Given the description of an element on the screen output the (x, y) to click on. 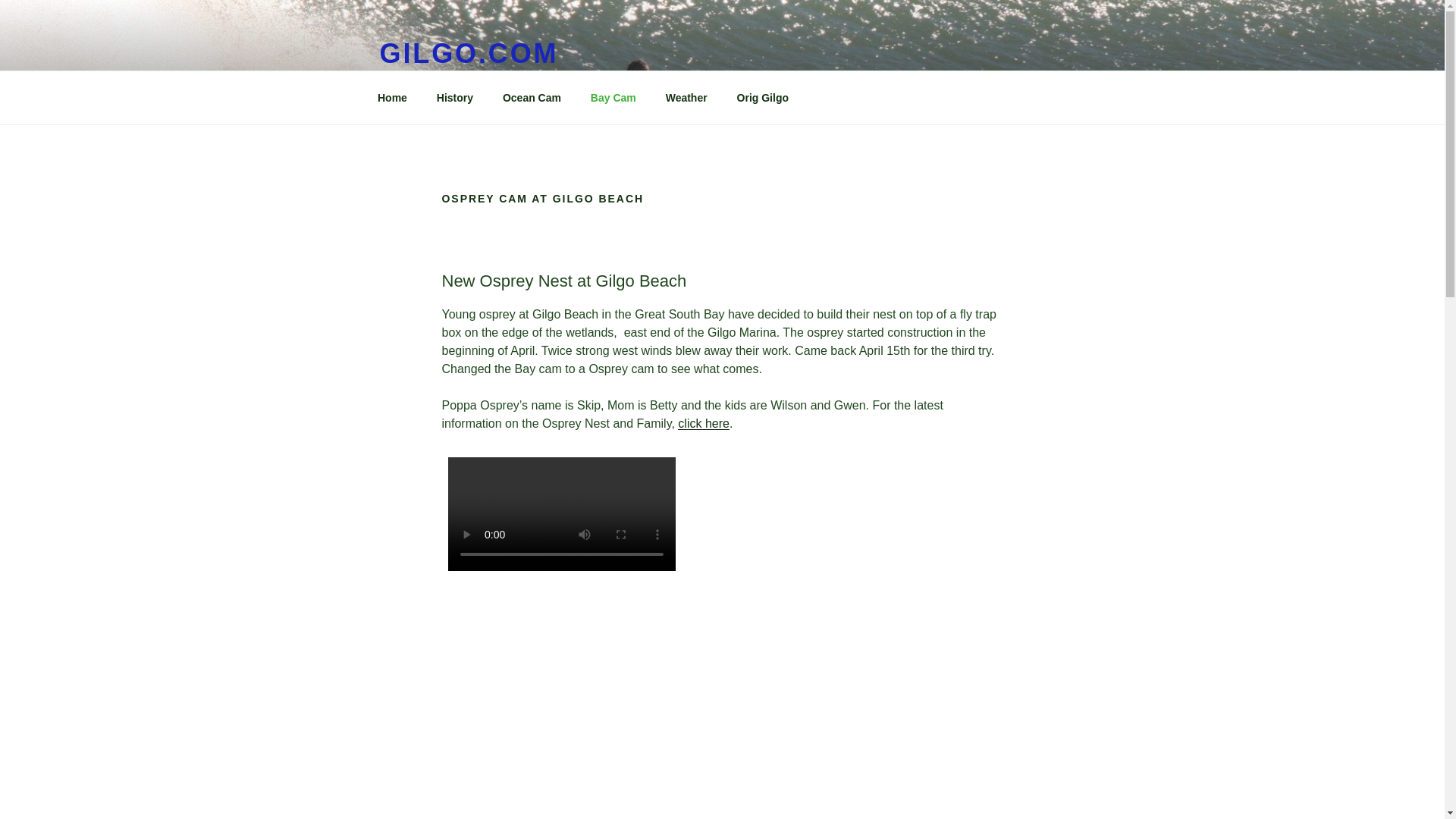
Ocean Cam (531, 97)
History (454, 97)
Bay Cam (612, 97)
Home (392, 97)
GILGO.COM (467, 52)
Orig Gilgo (762, 97)
click here (703, 422)
Weather (686, 97)
